Given the description of an element on the screen output the (x, y) to click on. 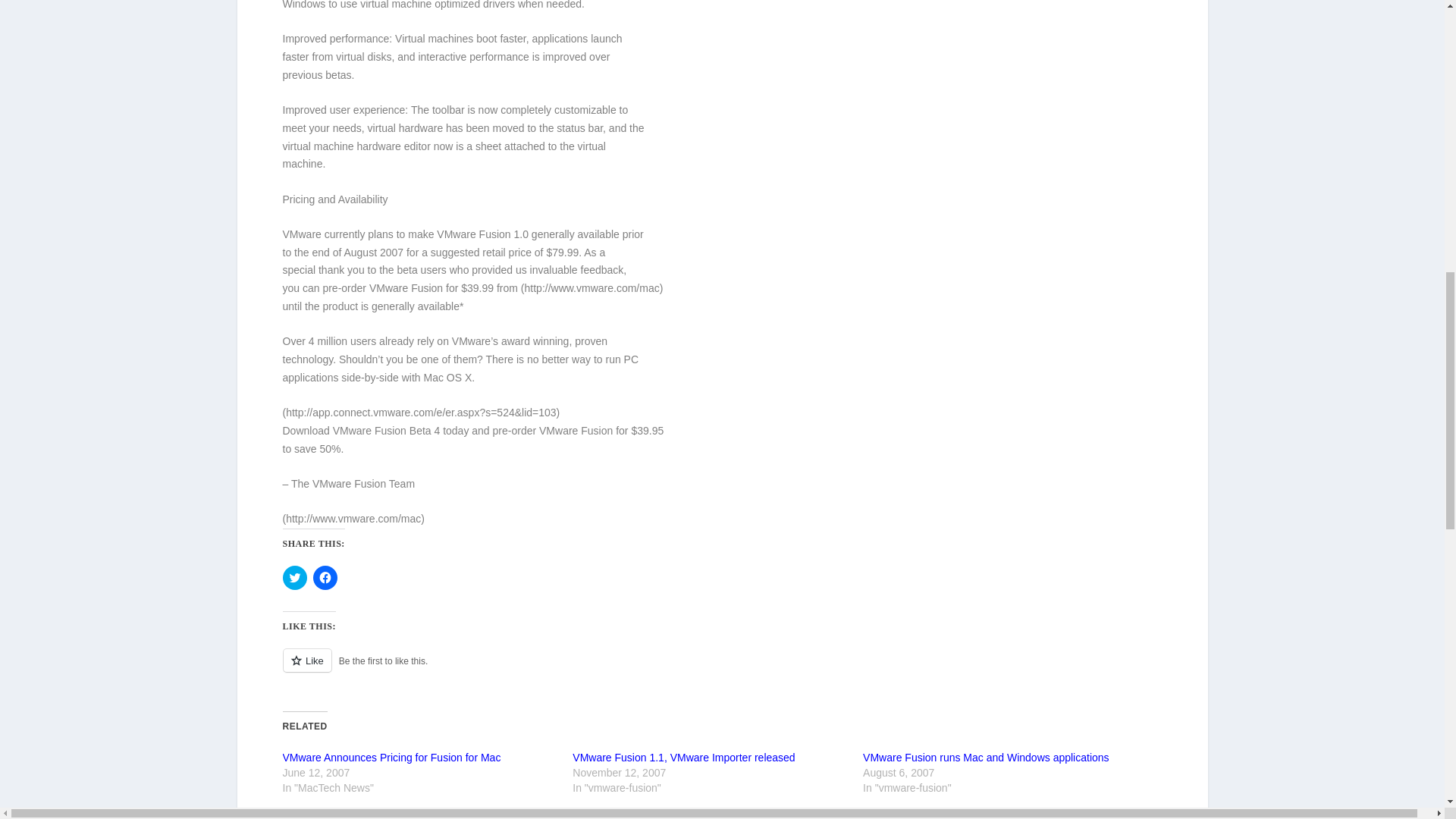
Click to share on Twitter (293, 577)
Click to share on Facebook (324, 577)
VMware Fusion 1.1,  VMware Importer released (683, 757)
Like or Reblog (721, 669)
VMware Fusion runs Mac and Windows applications (985, 757)
VMware Announces Pricing for Fusion for Mac (391, 757)
